Given the description of an element on the screen output the (x, y) to click on. 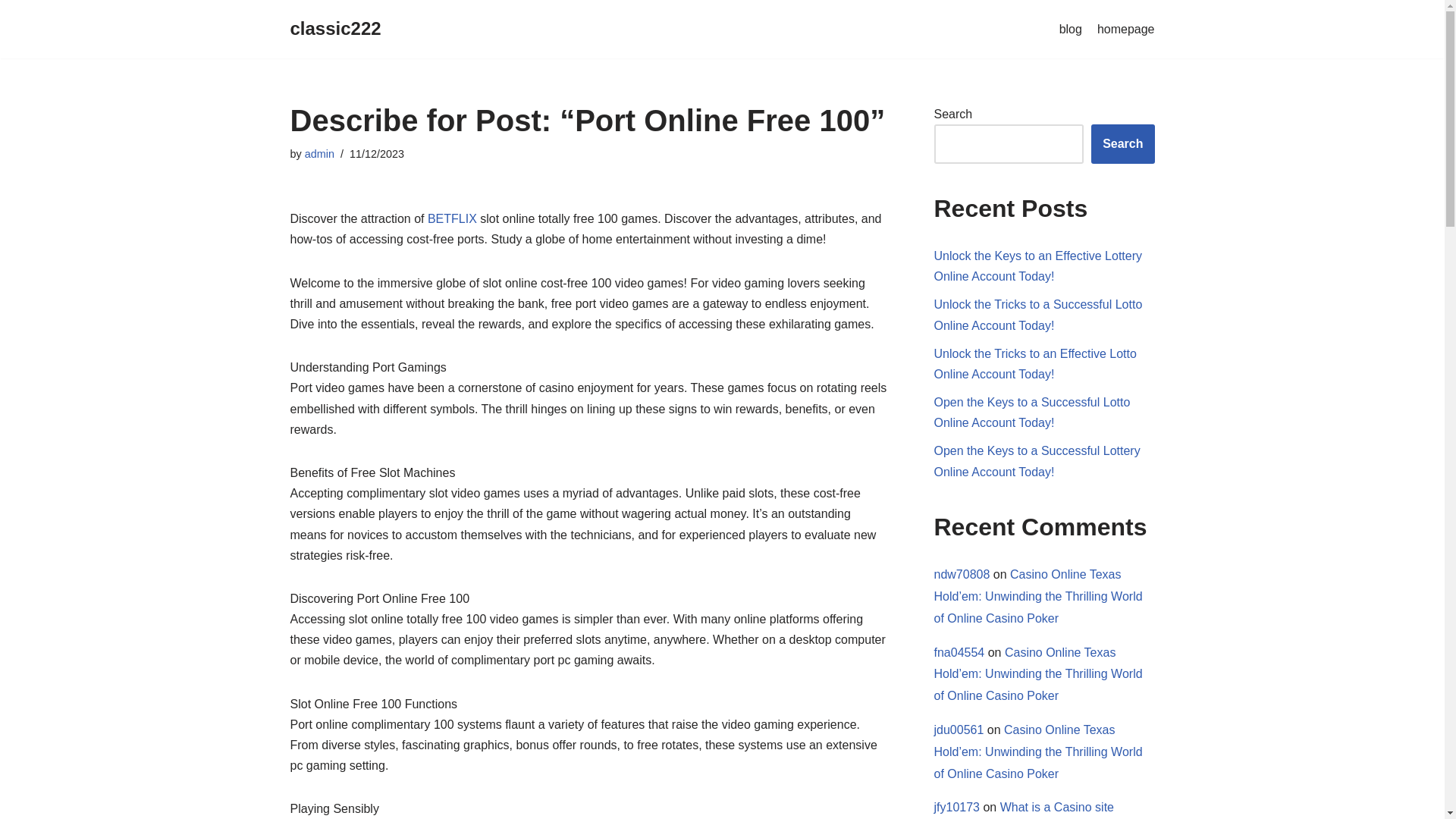
Posts by admin (319, 153)
jfy10173 (956, 807)
Open the Keys to a Successful Lotto Online Account Today! (1032, 412)
Open the Keys to a Successful Lottery Online Account Today! (1037, 460)
BETFLIX (452, 218)
Skip to content (11, 31)
ndw70808 (962, 574)
admin (319, 153)
jdu00561 (959, 729)
fna04554 (959, 652)
